Given the description of an element on the screen output the (x, y) to click on. 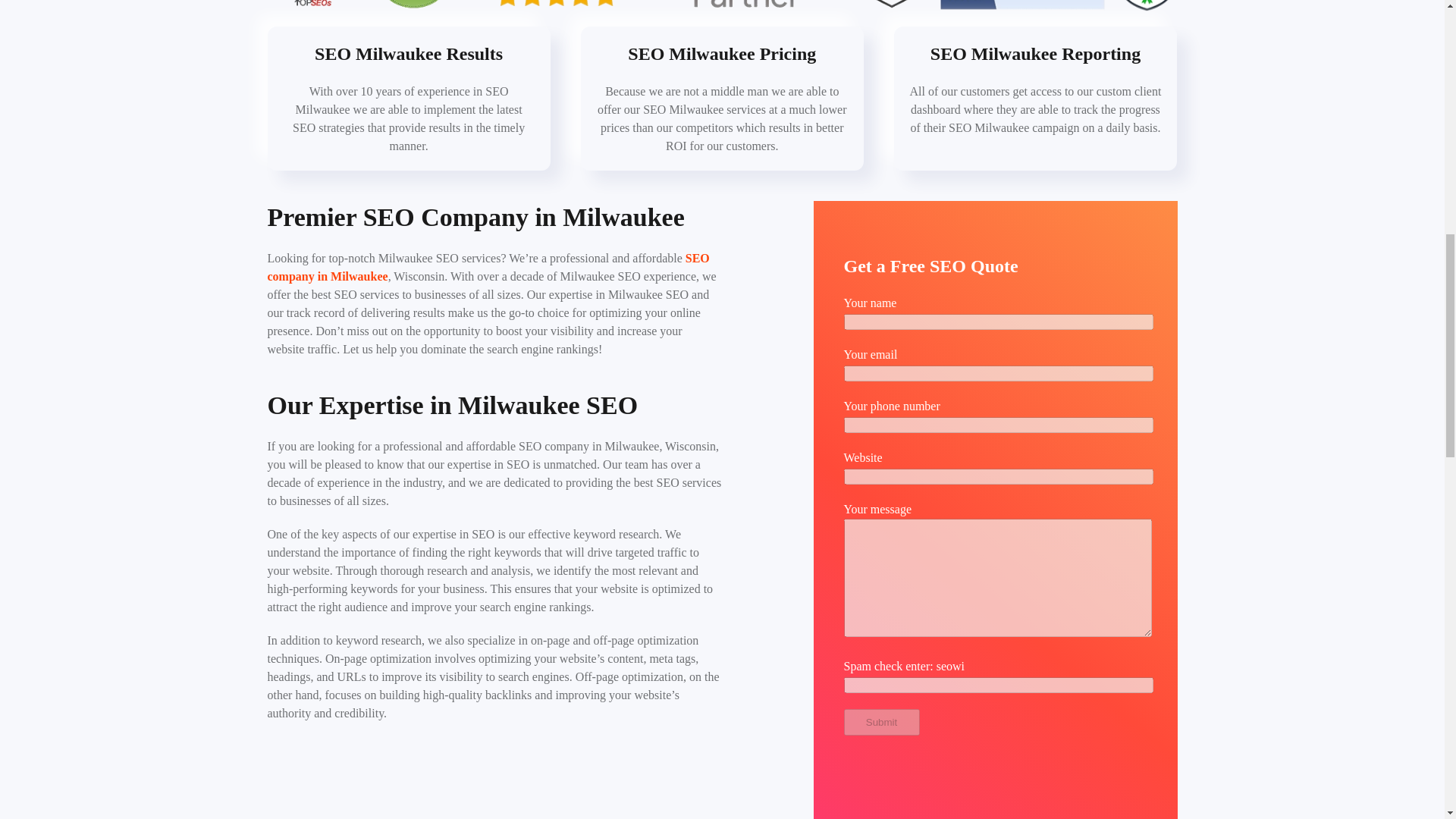
Submit (880, 722)
SEO company in Milwaukee (487, 266)
Submit (880, 722)
